Given the description of an element on the screen output the (x, y) to click on. 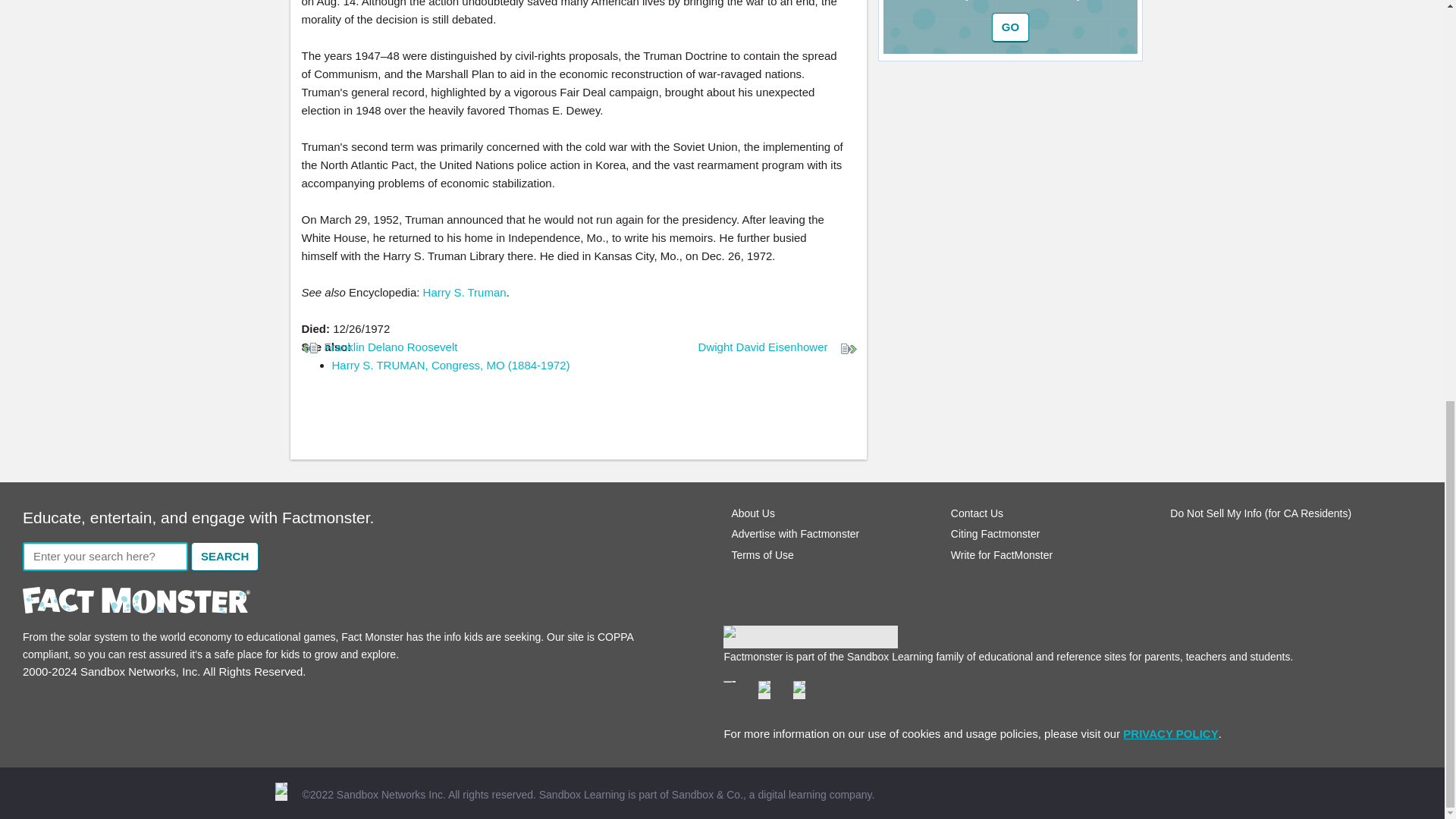
Search (224, 556)
About Us (752, 512)
Go (1010, 27)
Go (1010, 27)
